Given the description of an element on the screen output the (x, y) to click on. 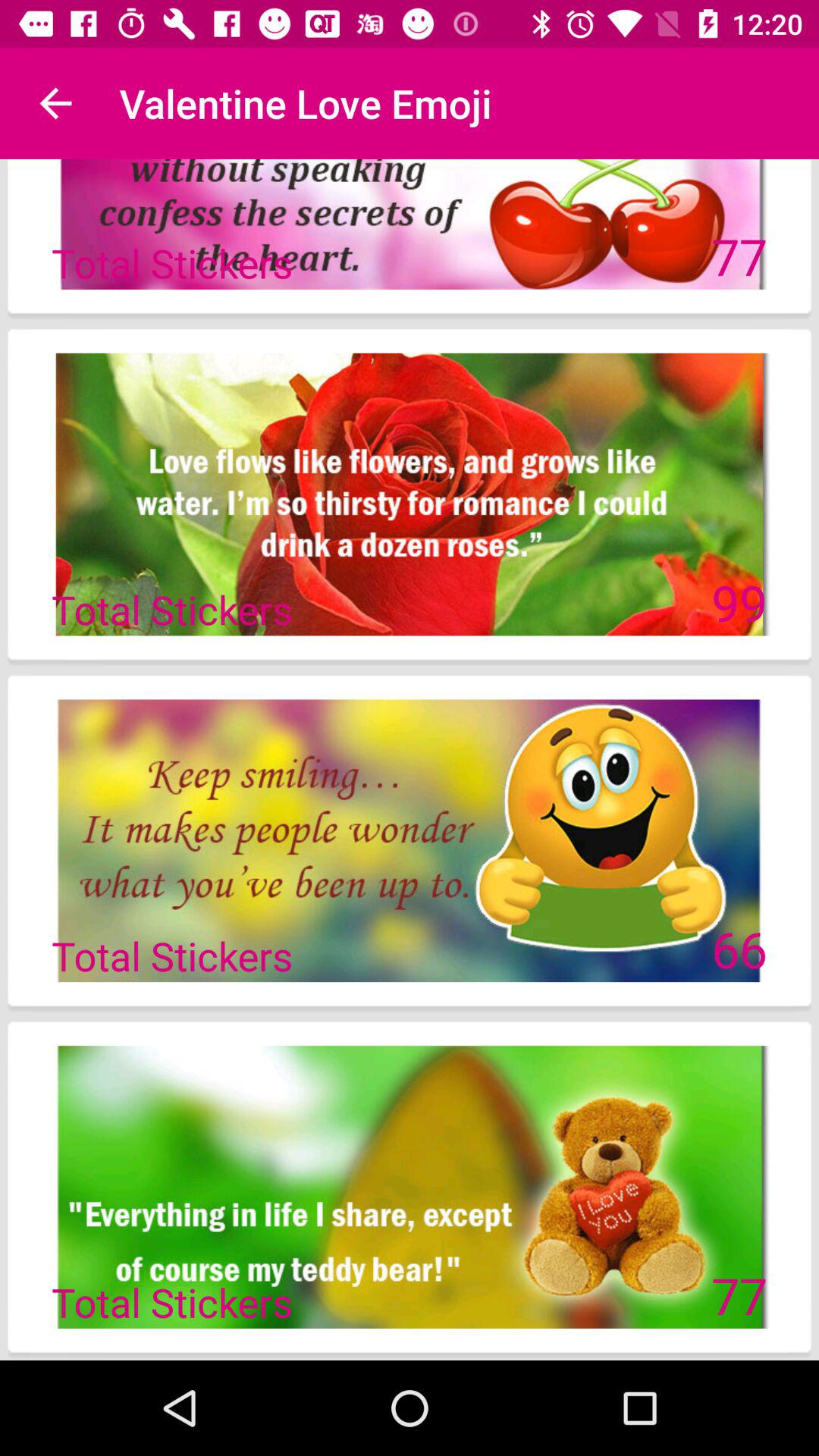
press the 66 icon (739, 948)
